Given the description of an element on the screen output the (x, y) to click on. 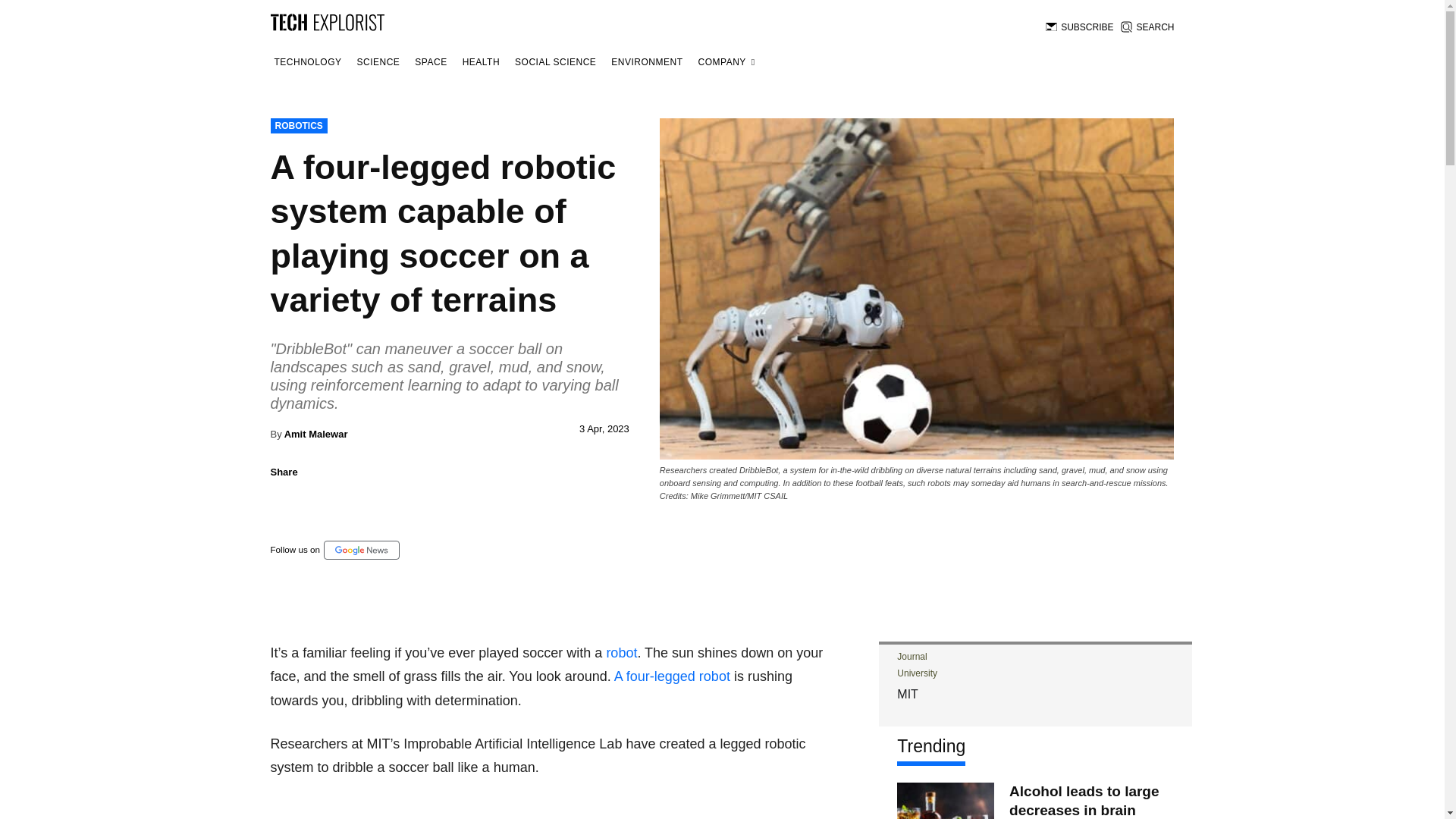
ENVIRONMENT (646, 62)
SPACE (429, 62)
SOCIAL SCIENCE (555, 62)
Tech Explorist (326, 21)
ROBOTICS (297, 125)
Amit Malewar (315, 433)
SUBSCRIBE (1079, 26)
COMPANY (726, 62)
HEALTH (480, 62)
Technology (307, 62)
